Given the description of an element on the screen output the (x, y) to click on. 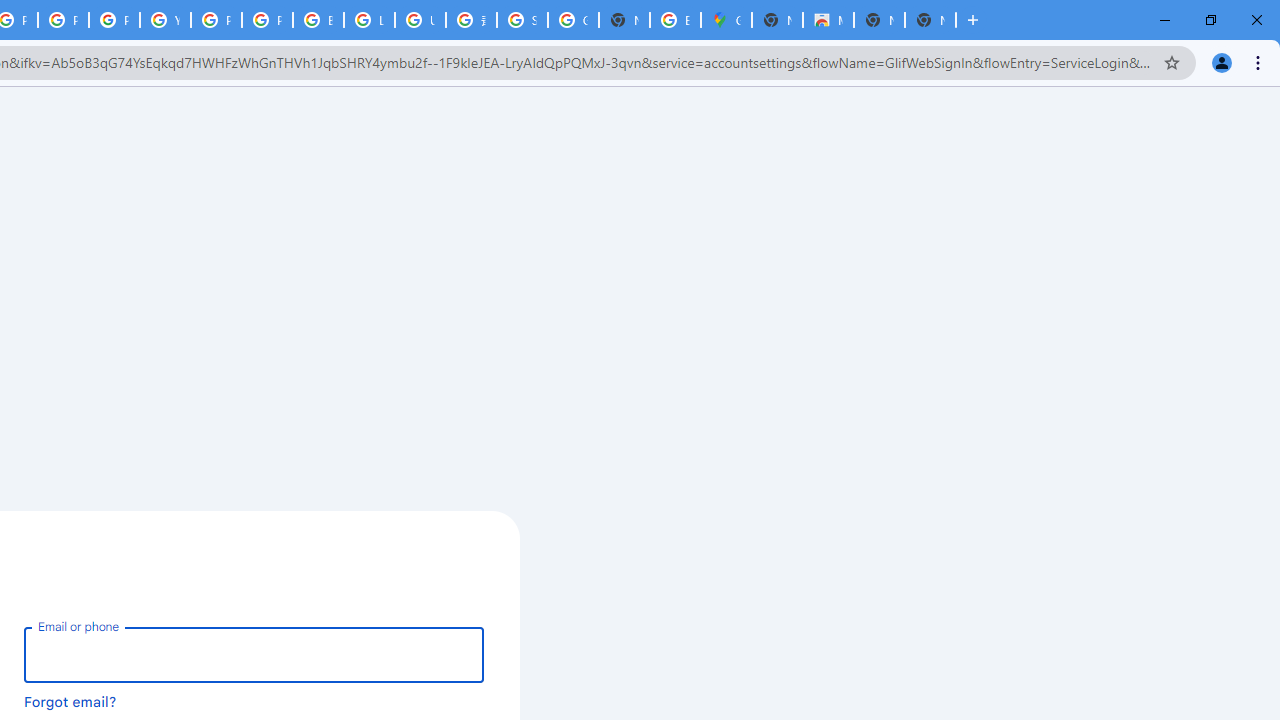
Close (1256, 20)
New Tab (776, 20)
Chrome (1260, 62)
Privacy Help Center - Policies Help (63, 20)
Bookmark this tab (1171, 62)
You (1221, 62)
Email or phone (253, 654)
